Given the description of an element on the screen output the (x, y) to click on. 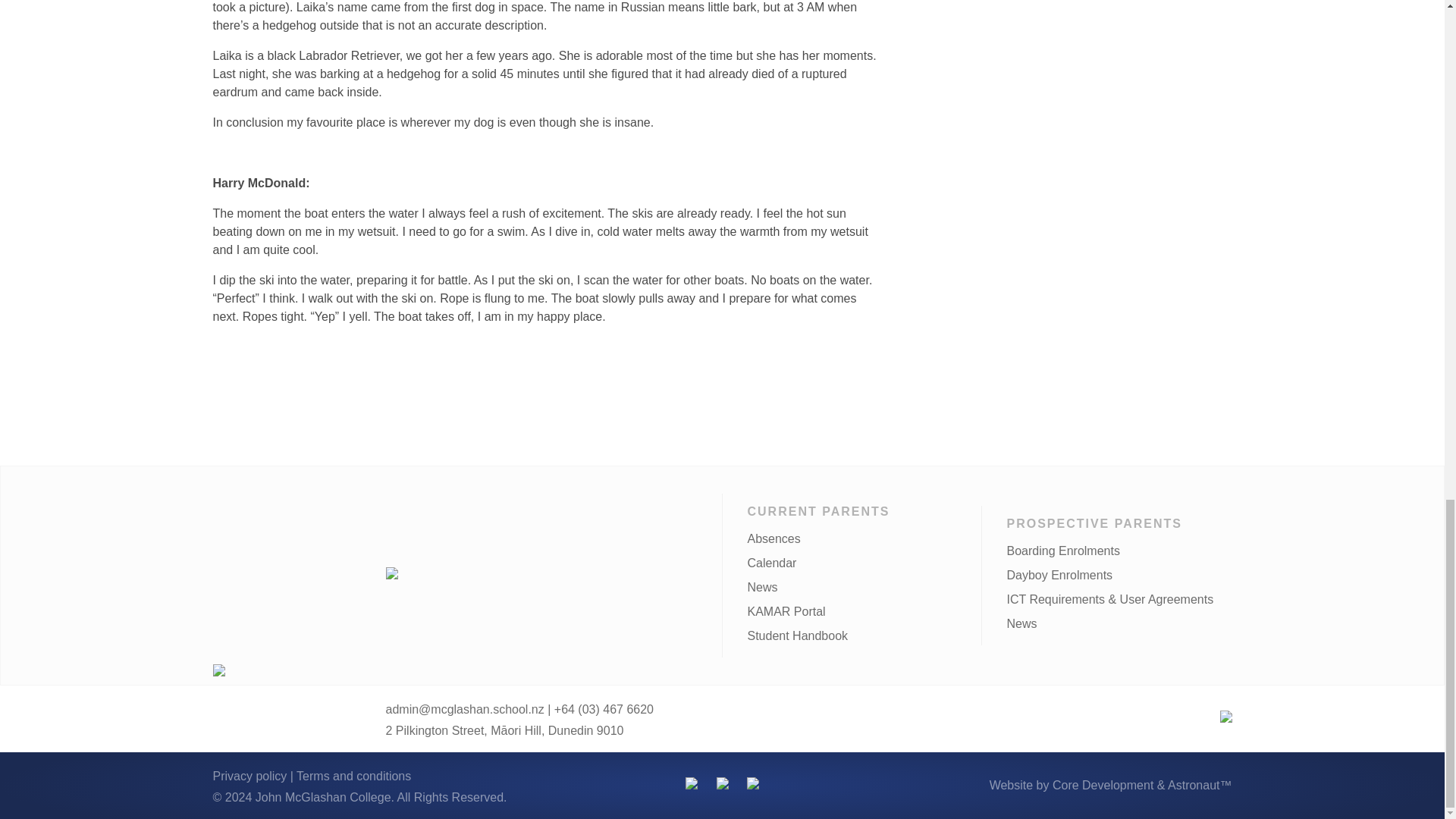
Core Development (1102, 784)
News (761, 586)
News (1021, 623)
Boarding Enrolments (1062, 550)
KAMAR Portal (785, 611)
Student Handbook (796, 635)
Calendar (771, 562)
Privacy policy (249, 775)
Absences (772, 538)
Terms and conditions (353, 775)
